Given the description of an element on the screen output the (x, y) to click on. 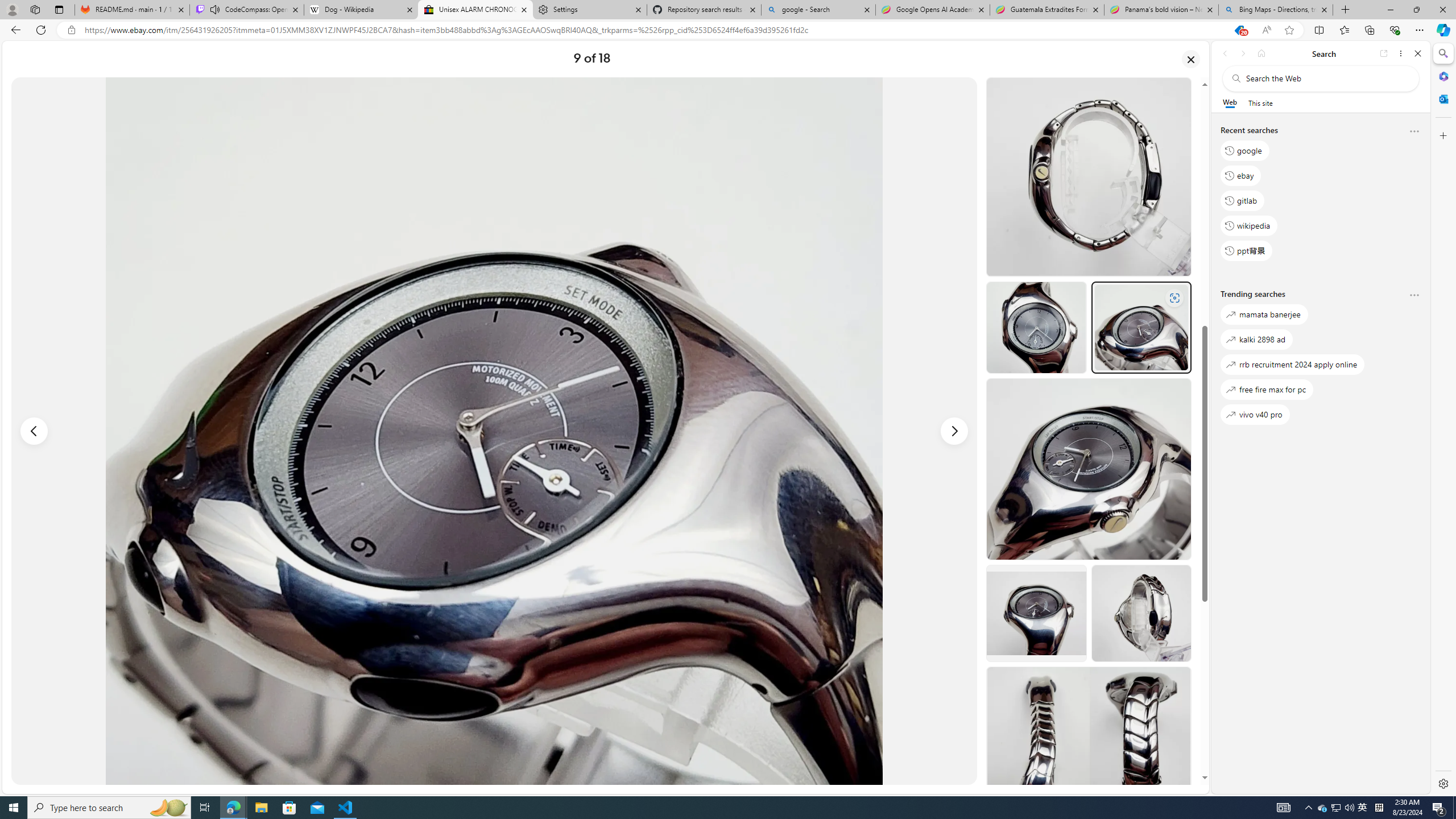
Dog - Wikipedia (360, 9)
gitlab (1242, 200)
mamata banerjee (1263, 314)
